Given the description of an element on the screen output the (x, y) to click on. 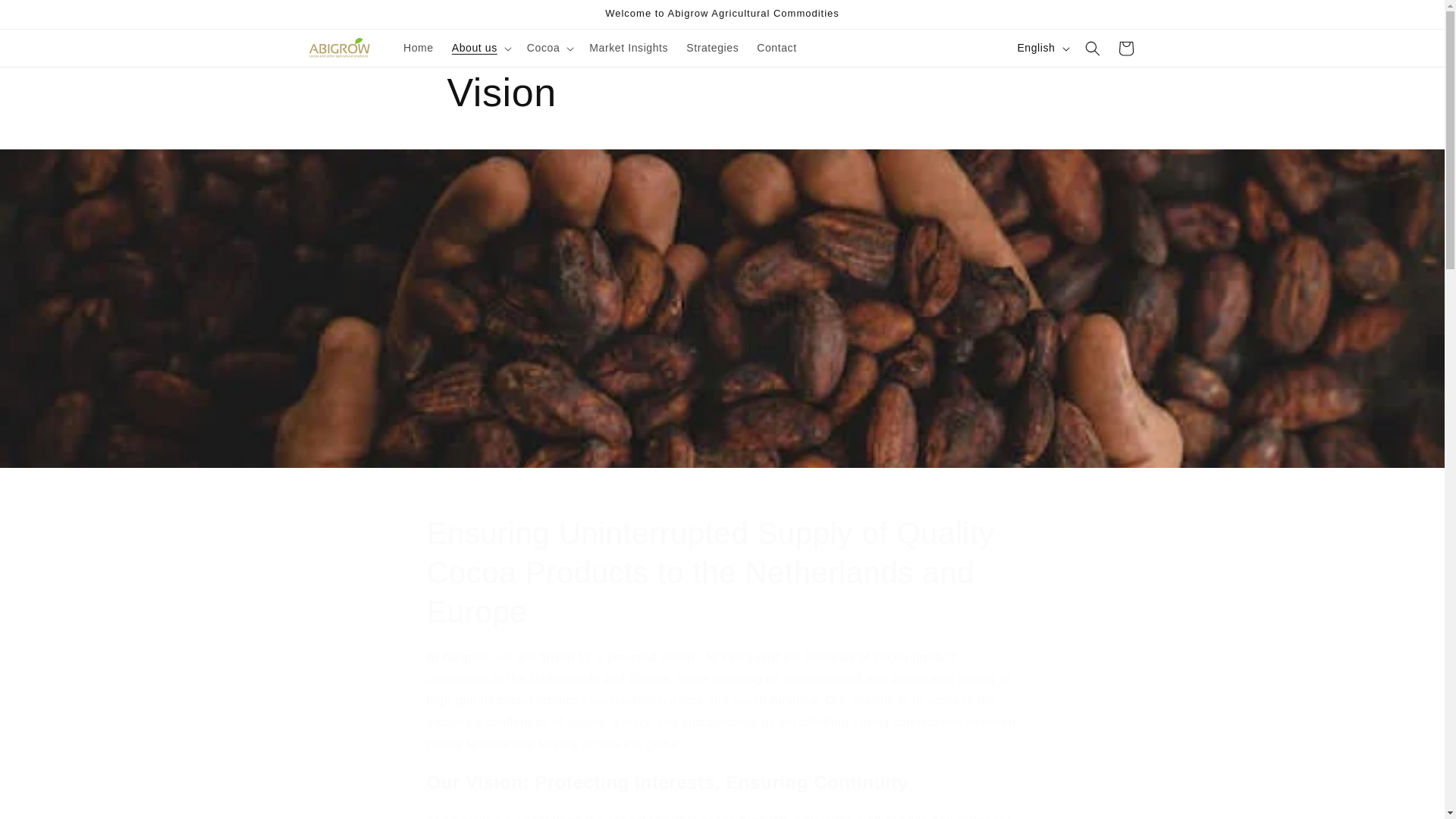
Strategies (712, 47)
Contact (776, 47)
Home (418, 47)
English (1124, 48)
Market Insights (1041, 47)
Vision (628, 47)
